Given the description of an element on the screen output the (x, y) to click on. 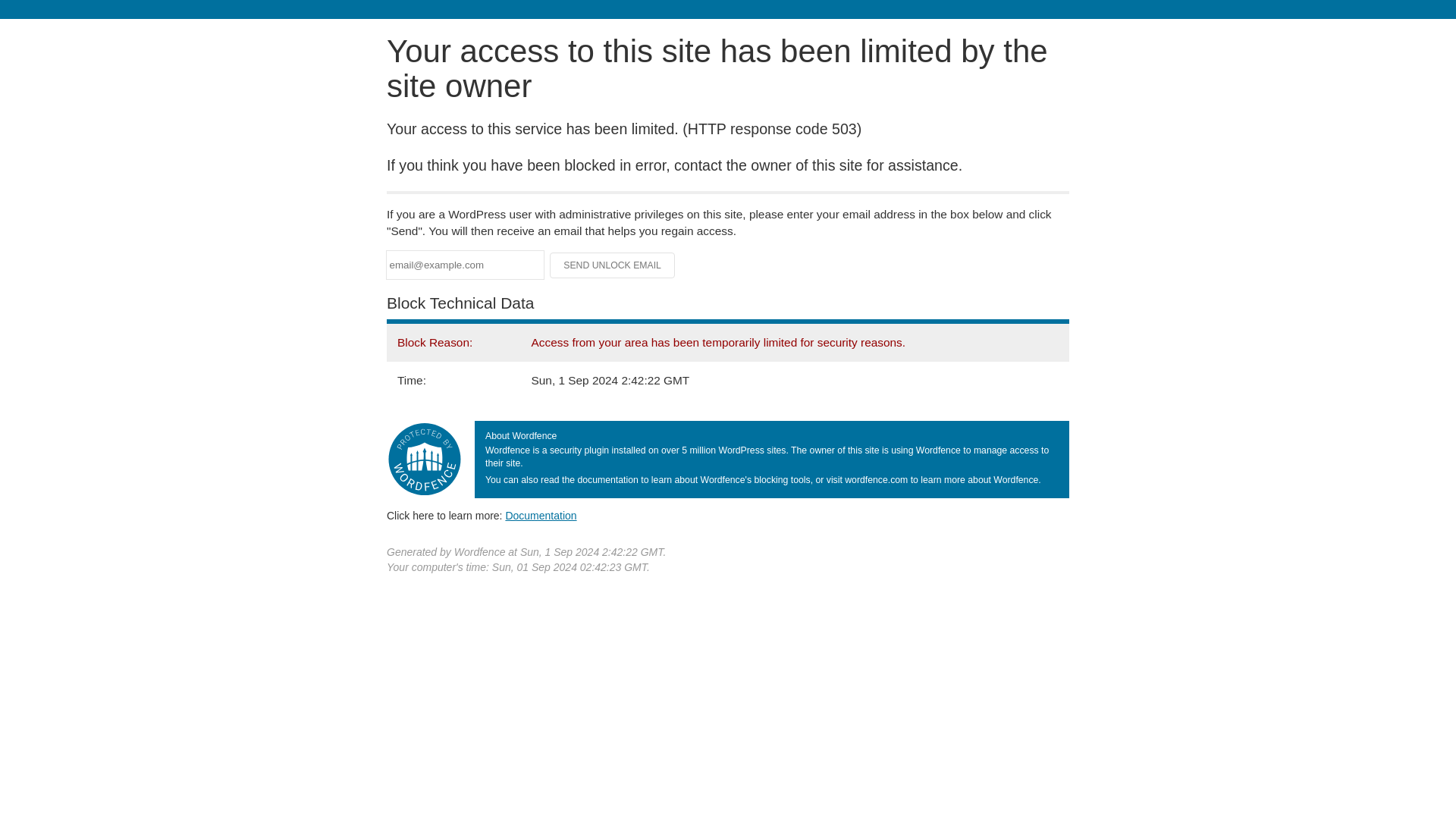
Send Unlock Email (612, 265)
Send Unlock Email (612, 265)
Documentation (540, 515)
